Given the description of an element on the screen output the (x, y) to click on. 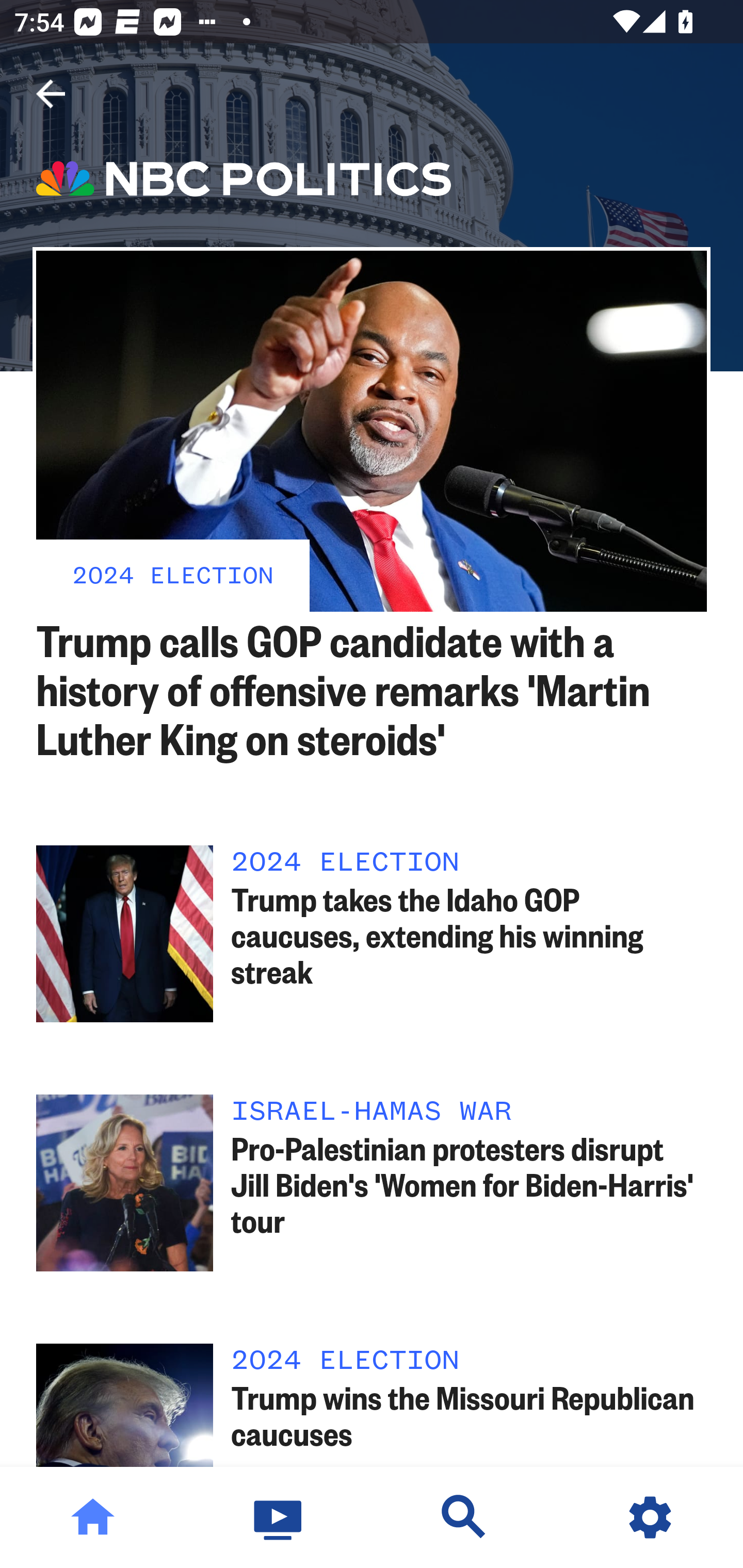
Navigate up (50, 93)
Watch (278, 1517)
Discover (464, 1517)
Settings (650, 1517)
